Given the description of an element on the screen output the (x, y) to click on. 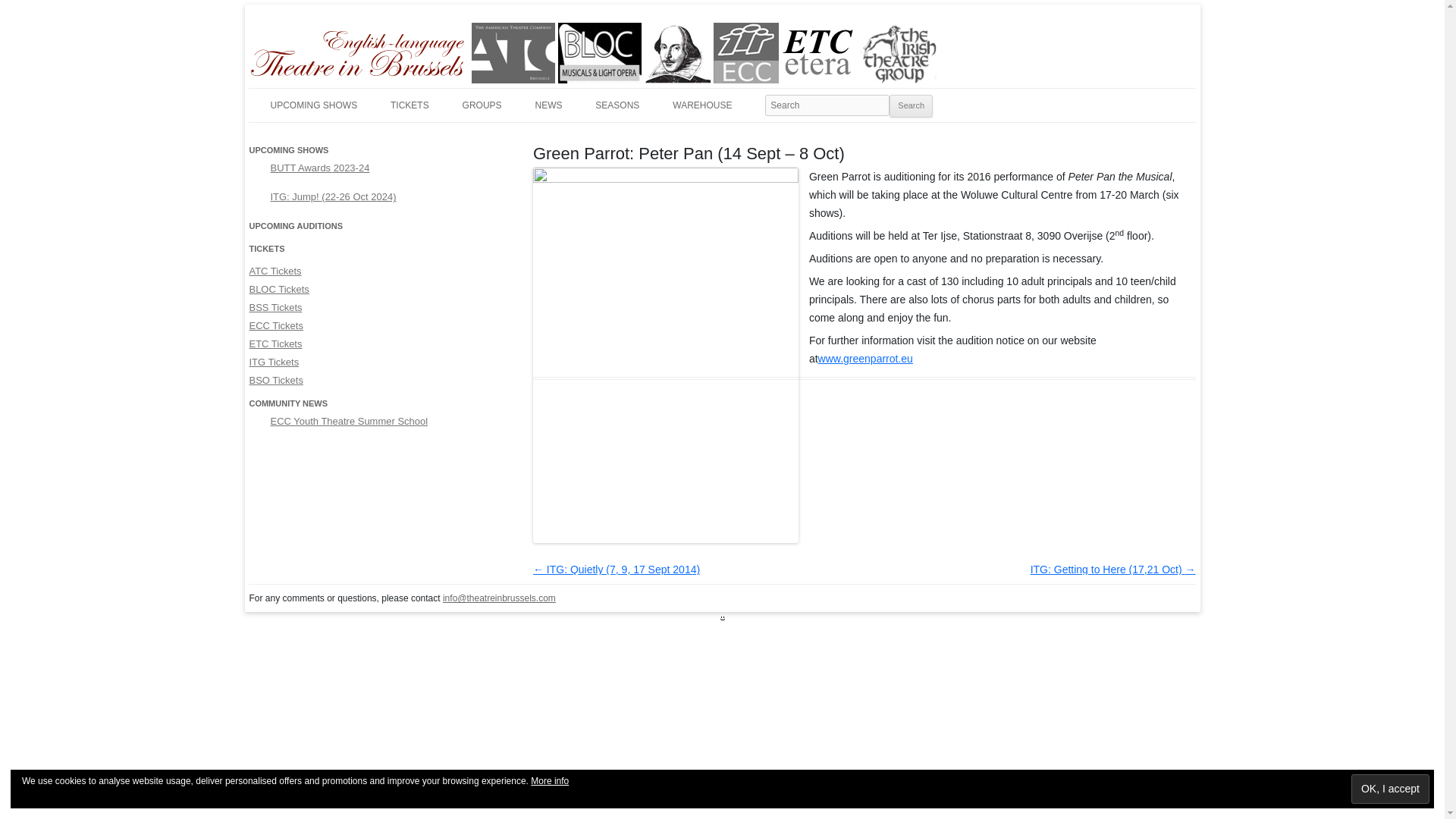
UPCOMING SHOWS (312, 105)
Skip to content (757, 95)
Theatre in Brussels (333, 40)
Click here to visit the Irish Theatre Group web site (898, 52)
Skip to content (757, 95)
SEASONS (617, 105)
Click here to visit the American Theatre Company web site (512, 52)
Search (911, 106)
Click here to visit the English Comedy Club web site (745, 52)
Theatre in Brussels (333, 40)
